Given the description of an element on the screen output the (x, y) to click on. 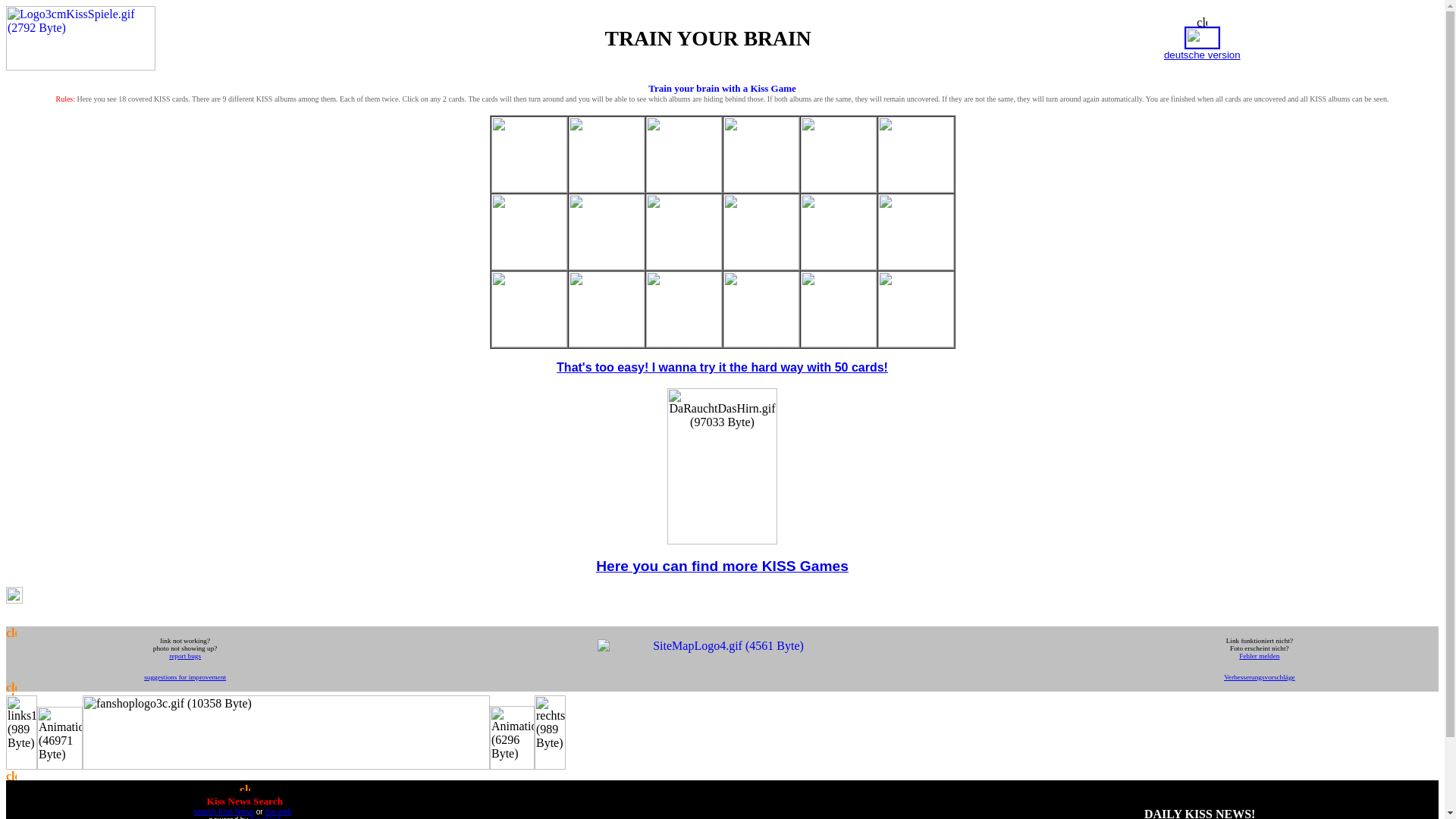
deutsche version (1201, 53)
the web (277, 811)
Fehler melden (1259, 655)
That's too easy! I wanna try it the hard way with 50 cards! (722, 367)
search Kiss News (223, 811)
report bugs (184, 653)
FreeFind (265, 817)
Here you can find more KISS Games (721, 566)
suggestions for improvement (184, 675)
